Given the description of an element on the screen output the (x, y) to click on. 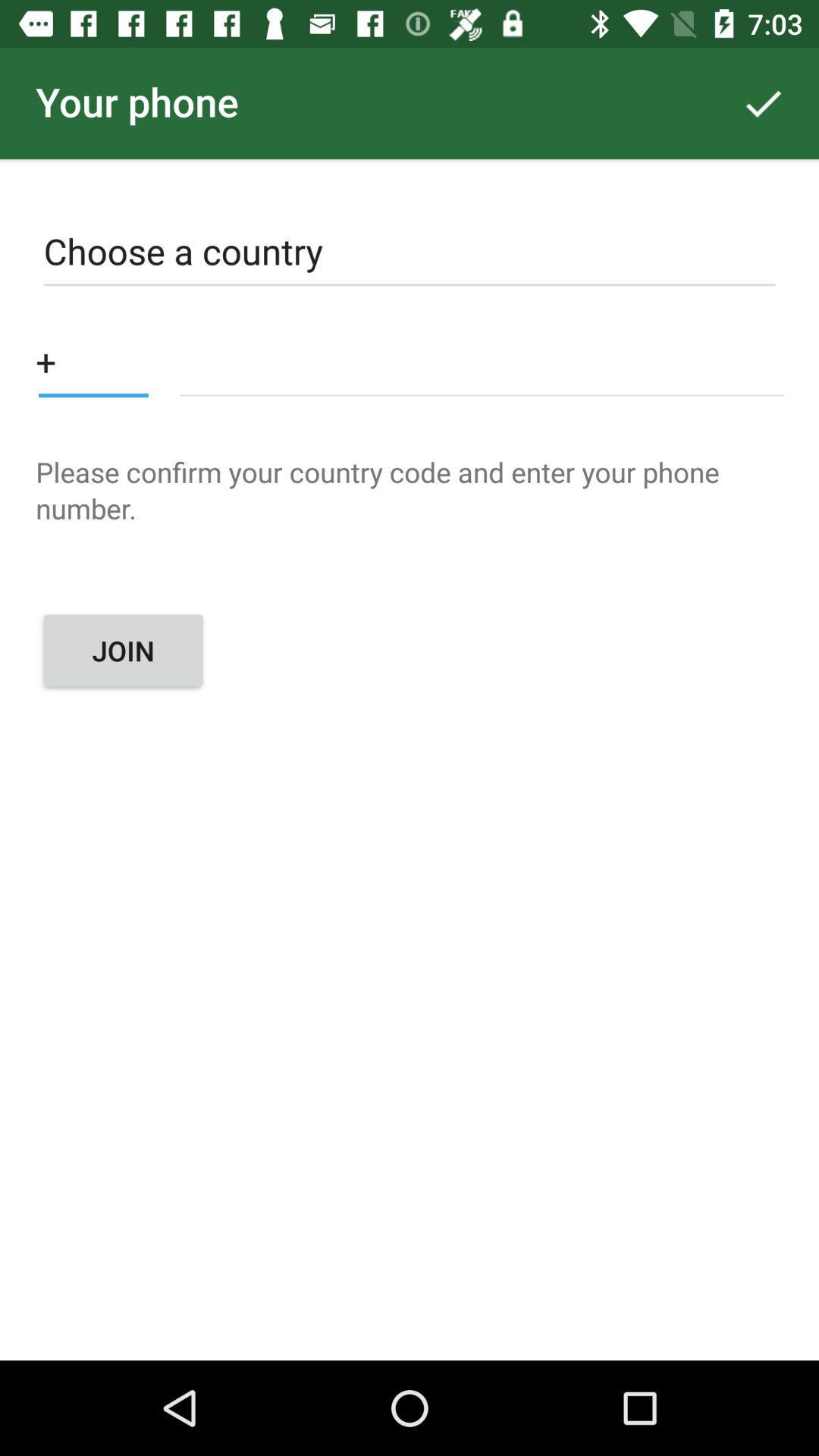
choose the item below please confirm your icon (123, 650)
